Given the description of an element on the screen output the (x, y) to click on. 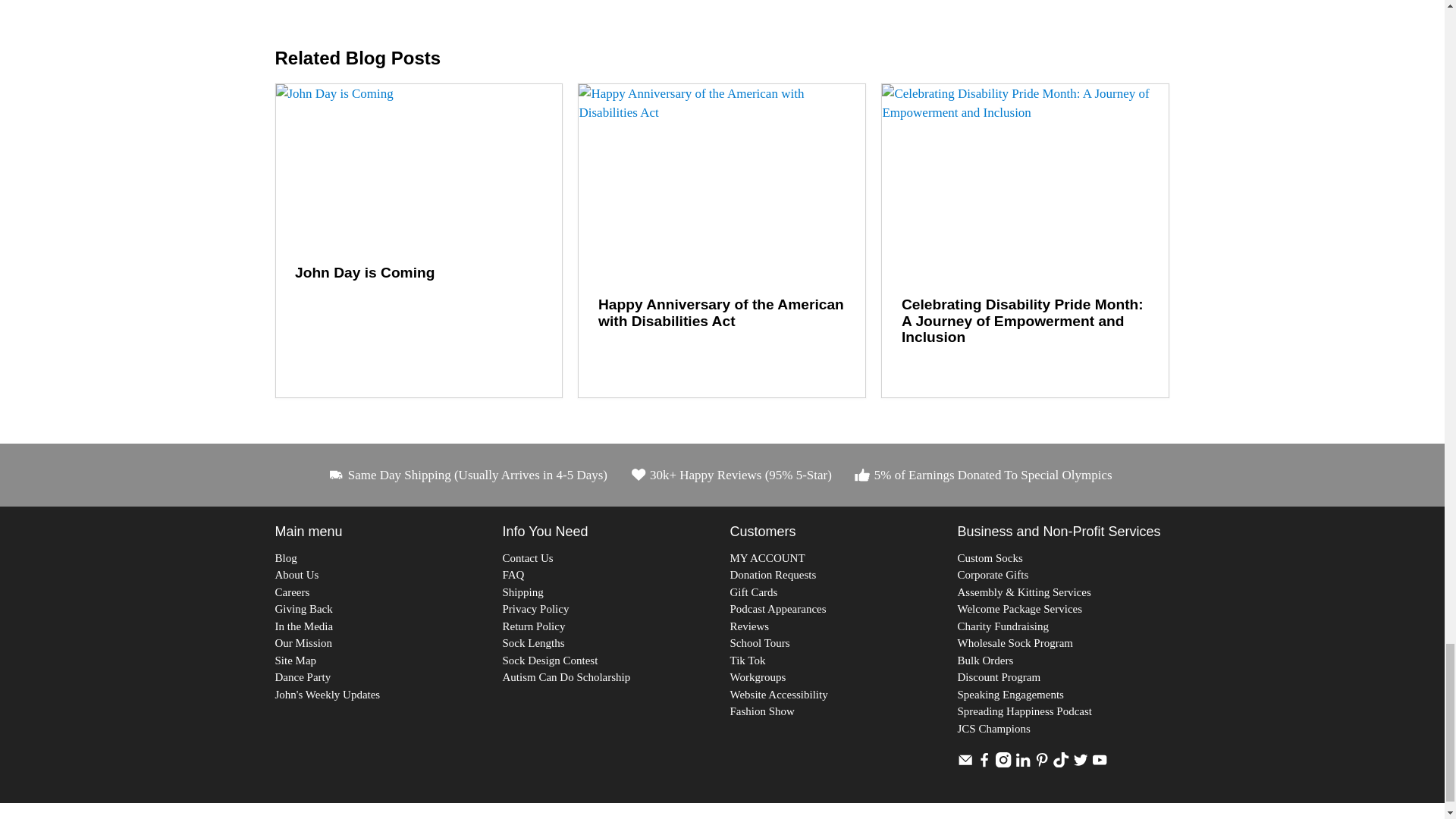
Happy Anniversary of the American with Disabilities Act (721, 180)
Johns Crazy Socks on Instagram (1002, 763)
John Day is Coming (364, 272)
Email Johns Crazy Socks (964, 763)
Johns Crazy Socks on Facebook (983, 763)
Johns Crazy Socks on TikTok (1060, 763)
John Day is Coming (419, 164)
Johns Crazy Socks on LinkedIn (1022, 763)
